Given the description of an element on the screen output the (x, y) to click on. 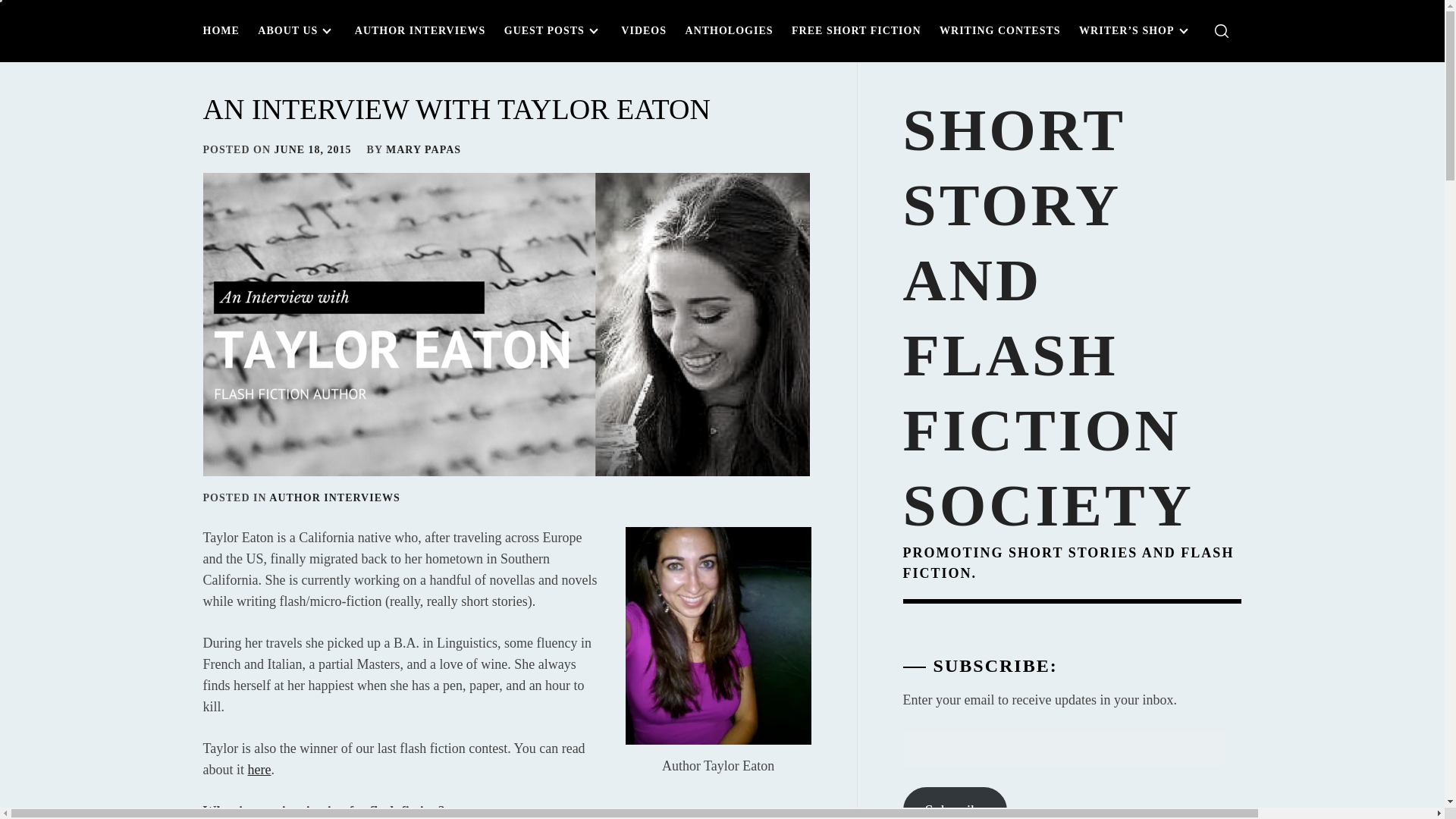
ANTHOLOGIES (729, 30)
here (258, 769)
Search (797, 402)
WRITING CONTESTS (999, 30)
AUTHOR INTERVIEWS (333, 497)
JUNE 18, 2015 (313, 149)
VIDEOS (643, 30)
ABOUT US (296, 30)
MARY PAPAS (423, 149)
FREE SHORT FICTION (856, 30)
AUTHOR INTERVIEWS (420, 30)
GUEST POSTS (553, 30)
HOME (225, 30)
